Given the description of an element on the screen output the (x, y) to click on. 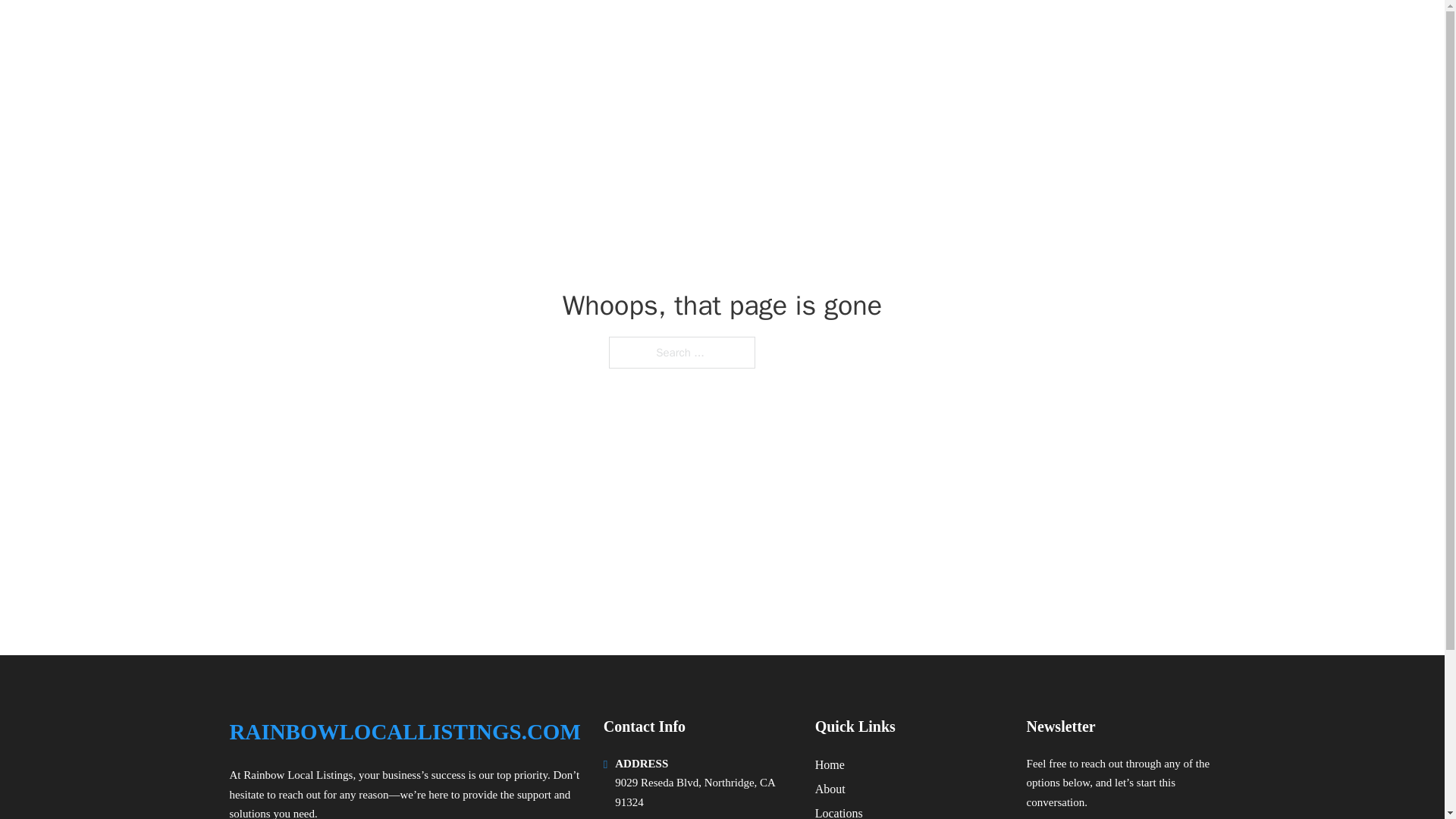
LOCATIONS (1098, 31)
Home (829, 764)
Locations (839, 811)
RAINBOWLOCALLISTINGS.COM (421, 31)
HOME (1025, 31)
RAINBOWLOCALLISTINGS.COM (403, 732)
About (830, 788)
